Given the description of an element on the screen output the (x, y) to click on. 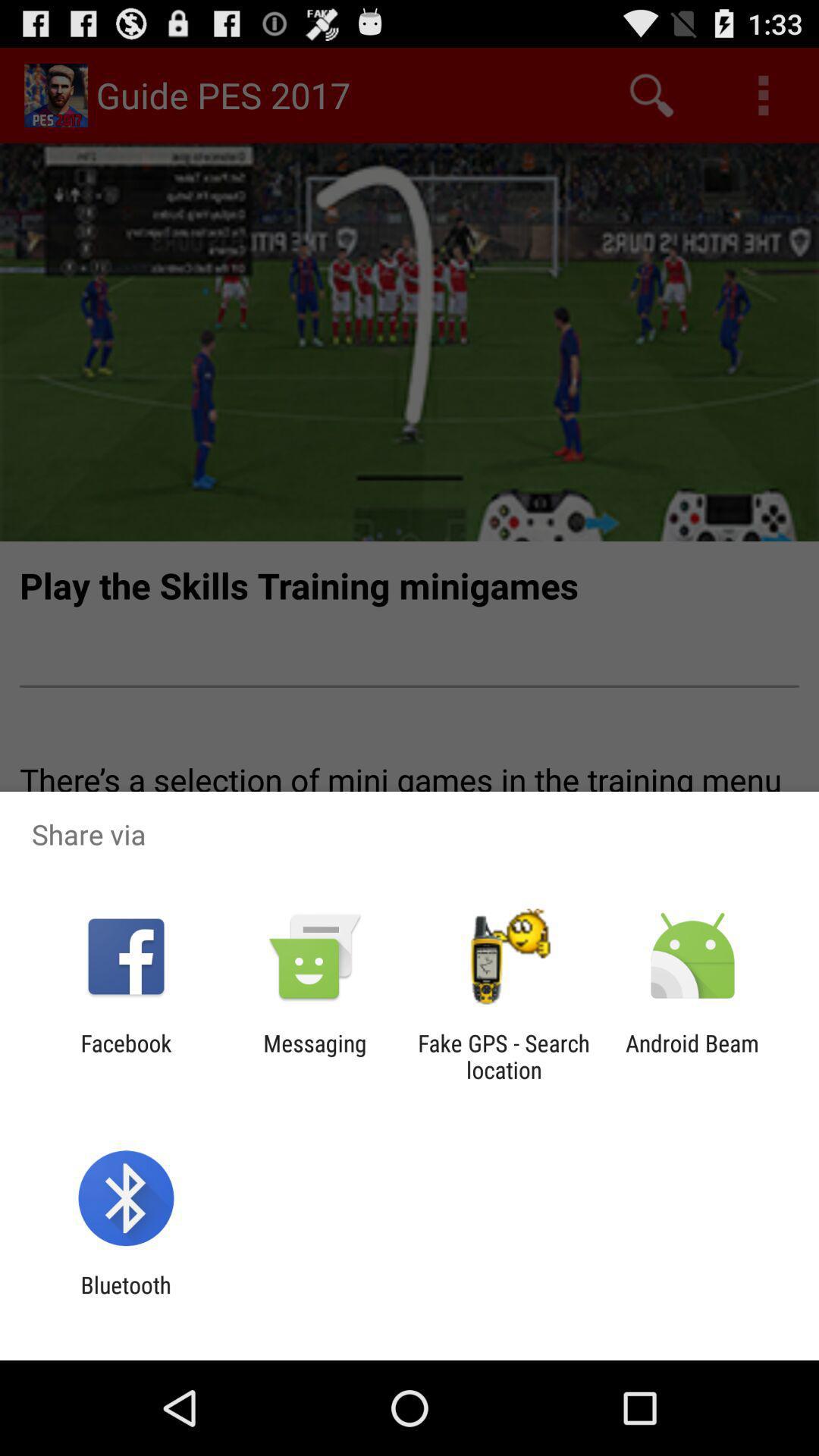
press the item next to android beam item (503, 1056)
